Given the description of an element on the screen output the (x, y) to click on. 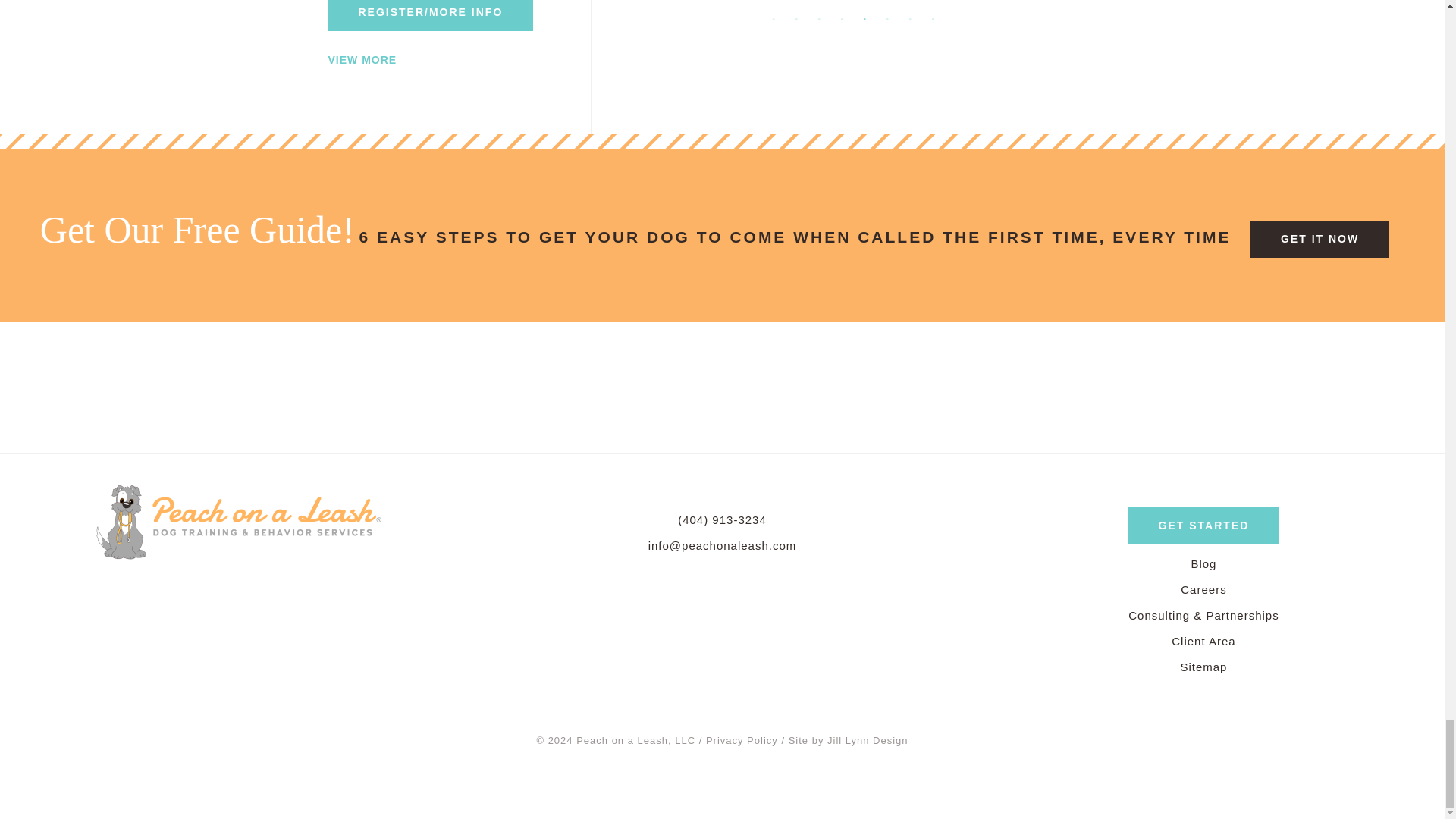
VIEW MORE (361, 60)
Atlanta WordPress Web Designer and Developer (848, 741)
Peach on a Leash (239, 519)
